Given the description of an element on the screen output the (x, y) to click on. 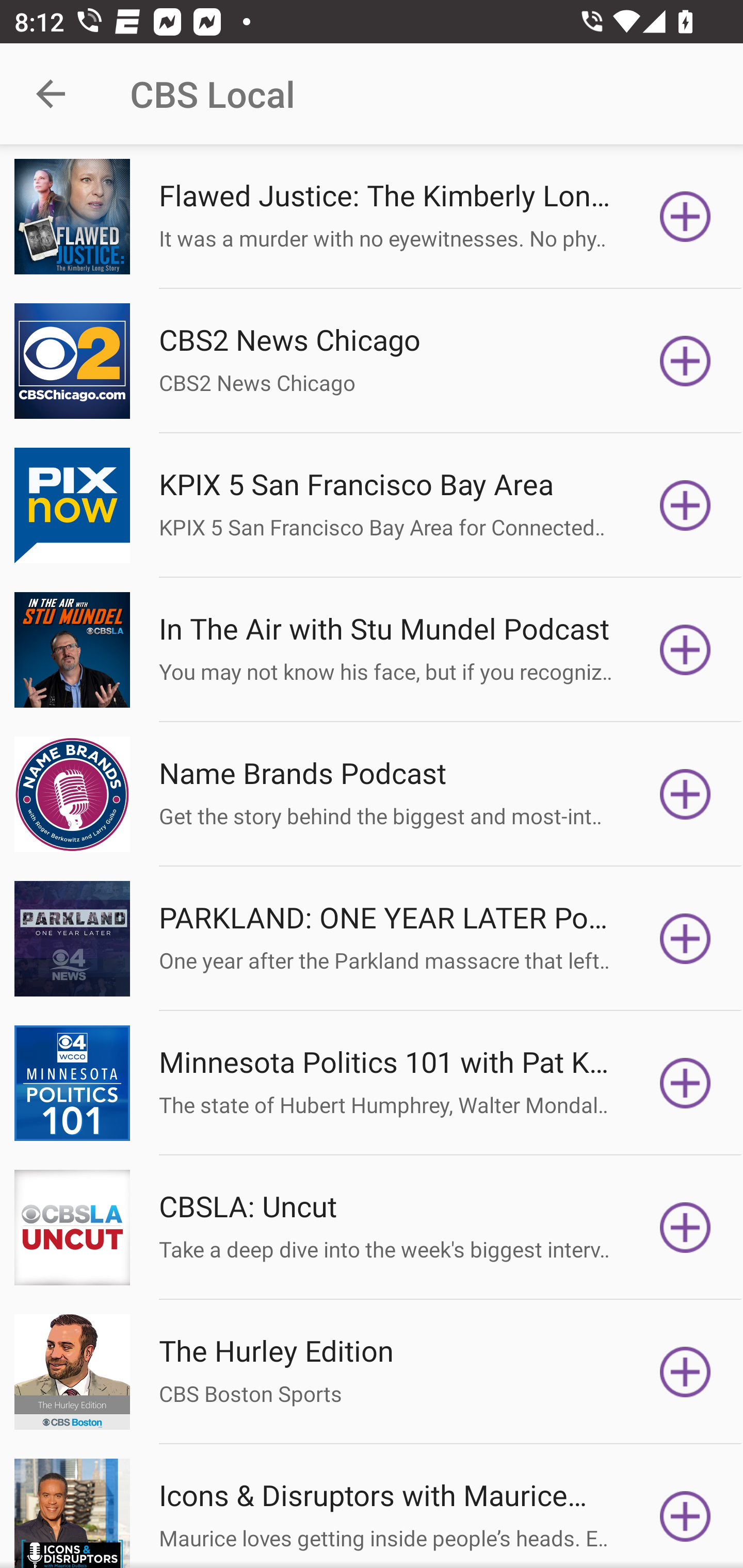
Navigate up (50, 93)
Subscribe (685, 216)
Subscribe (685, 360)
Subscribe (685, 505)
Subscribe (685, 649)
Subscribe (685, 793)
Subscribe (685, 939)
Subscribe (685, 1083)
Subscribe (685, 1227)
Subscribe (685, 1371)
Subscribe (685, 1513)
